Given the description of an element on the screen output the (x, y) to click on. 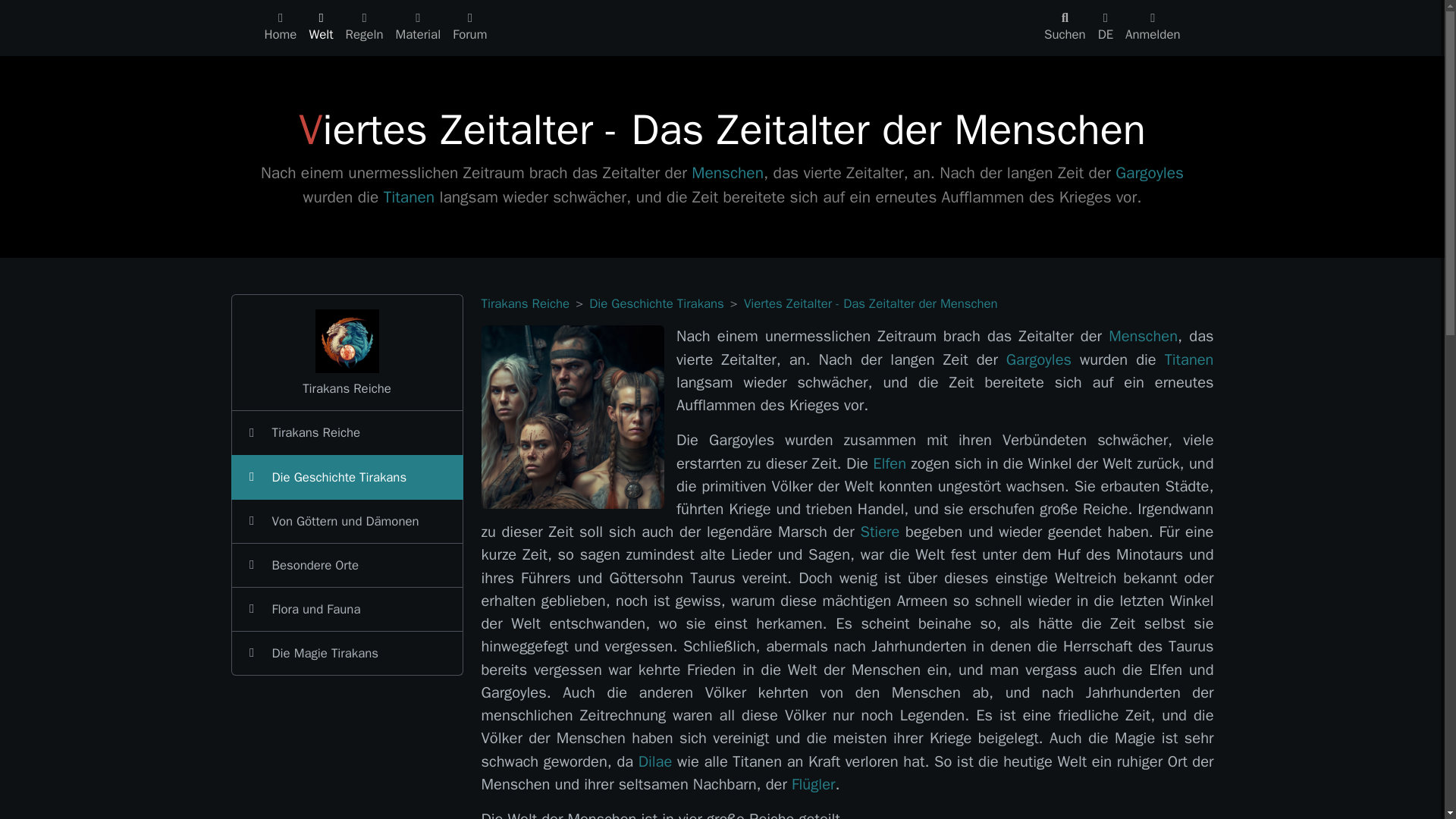
Titanen (409, 197)
Tirakans Reiche (524, 303)
Flora und Fauna (346, 609)
Regeln (364, 27)
Gargoyles (1149, 172)
Forum (469, 27)
Menschen (1142, 335)
Elfen (888, 463)
Die Geschichte Tirakans (656, 303)
Dilae (655, 761)
